Given the description of an element on the screen output the (x, y) to click on. 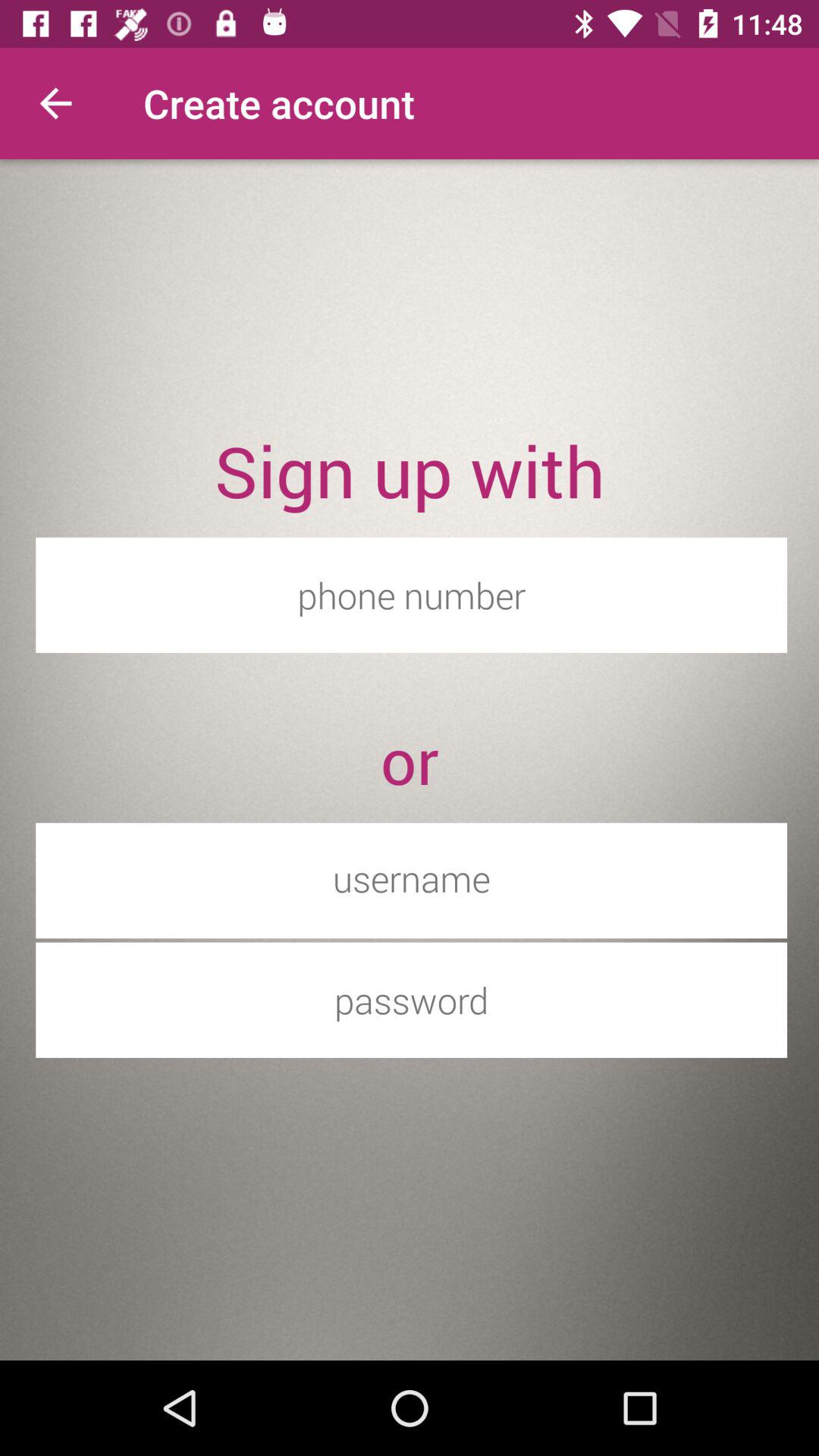
tap item below sign up with (411, 595)
